Given the description of an element on the screen output the (x, y) to click on. 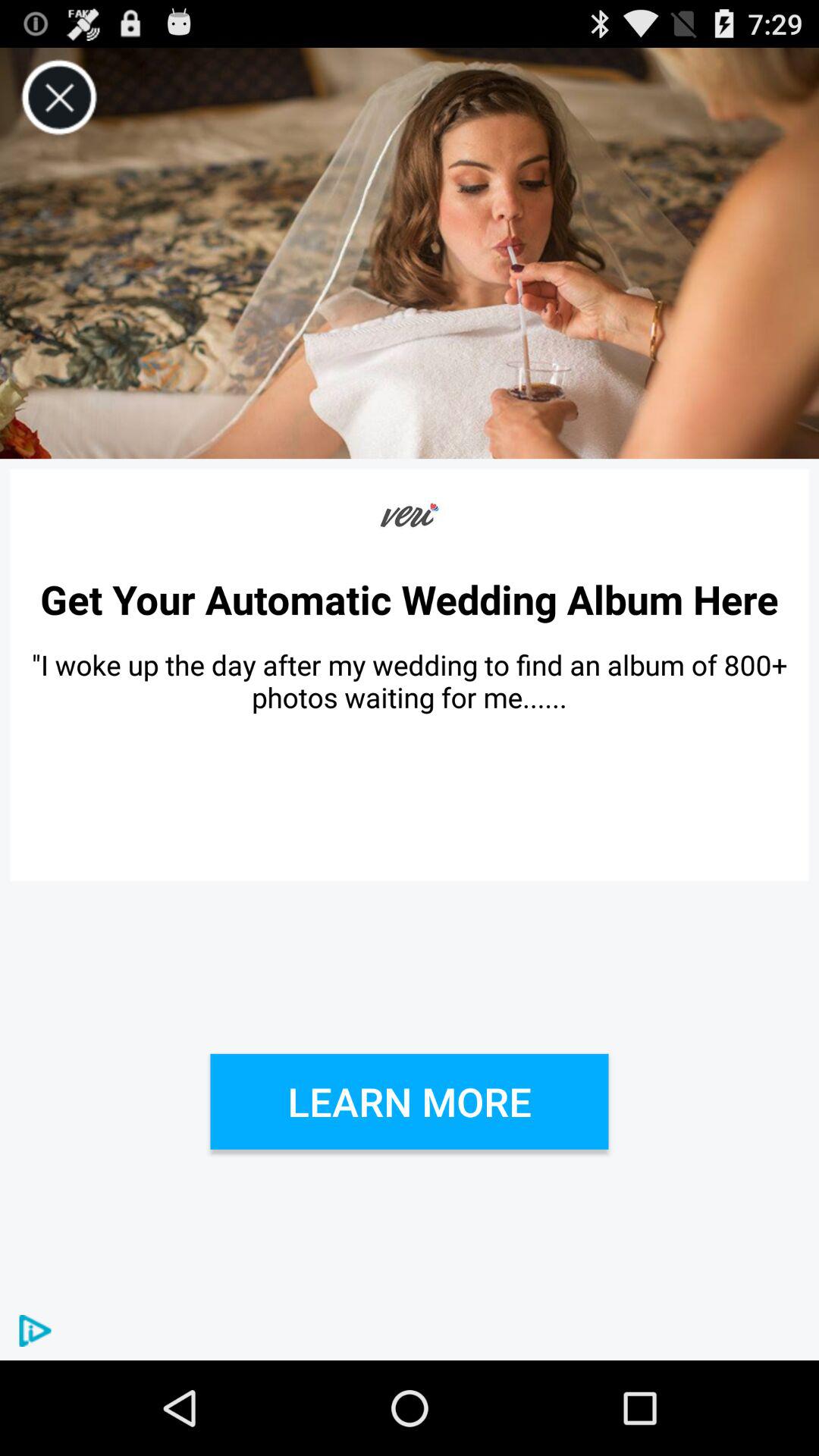
click the icon at the top left corner (59, 97)
